Given the description of an element on the screen output the (x, y) to click on. 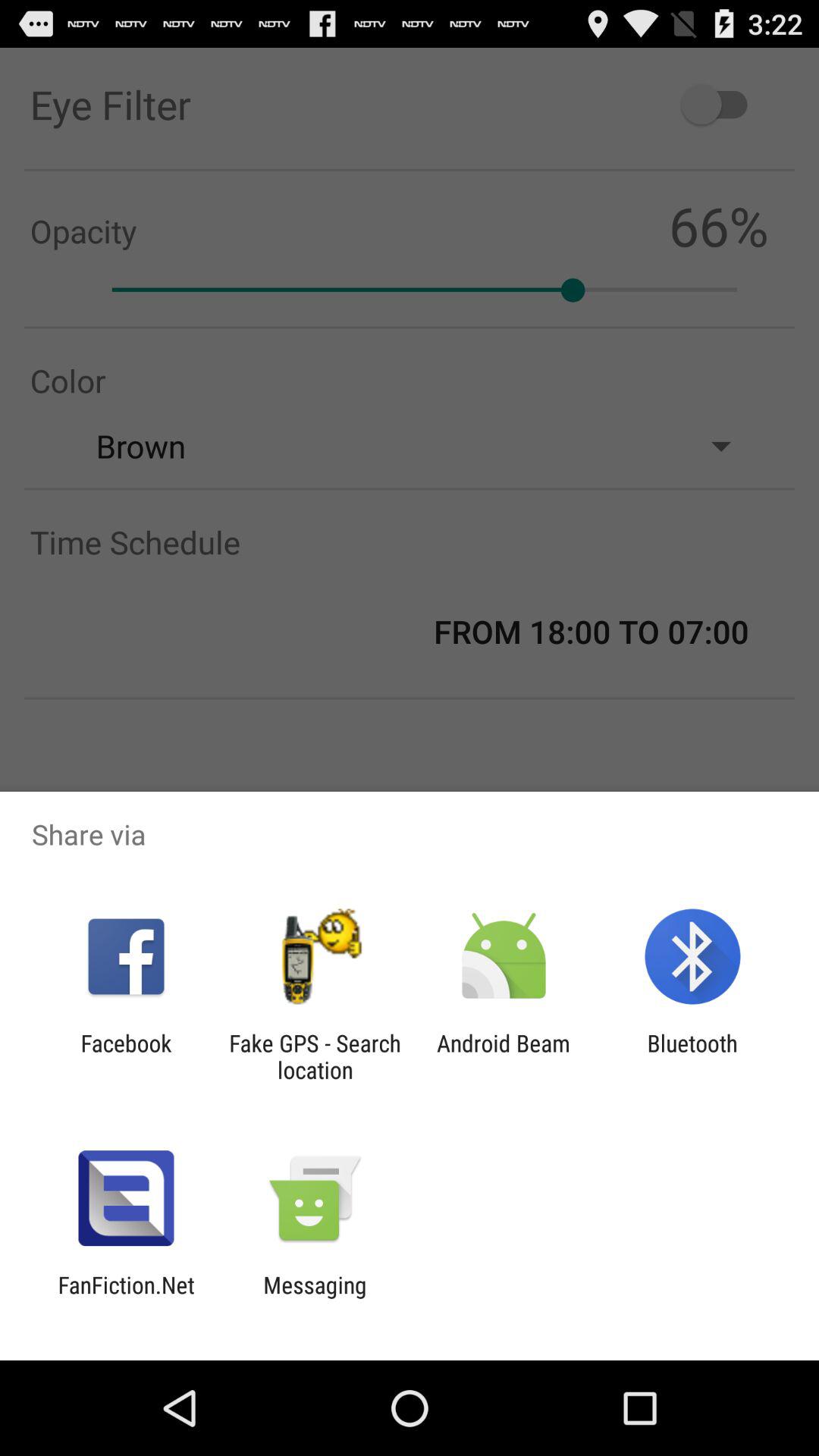
open app to the right of fake gps search icon (503, 1056)
